Given the description of an element on the screen output the (x, y) to click on. 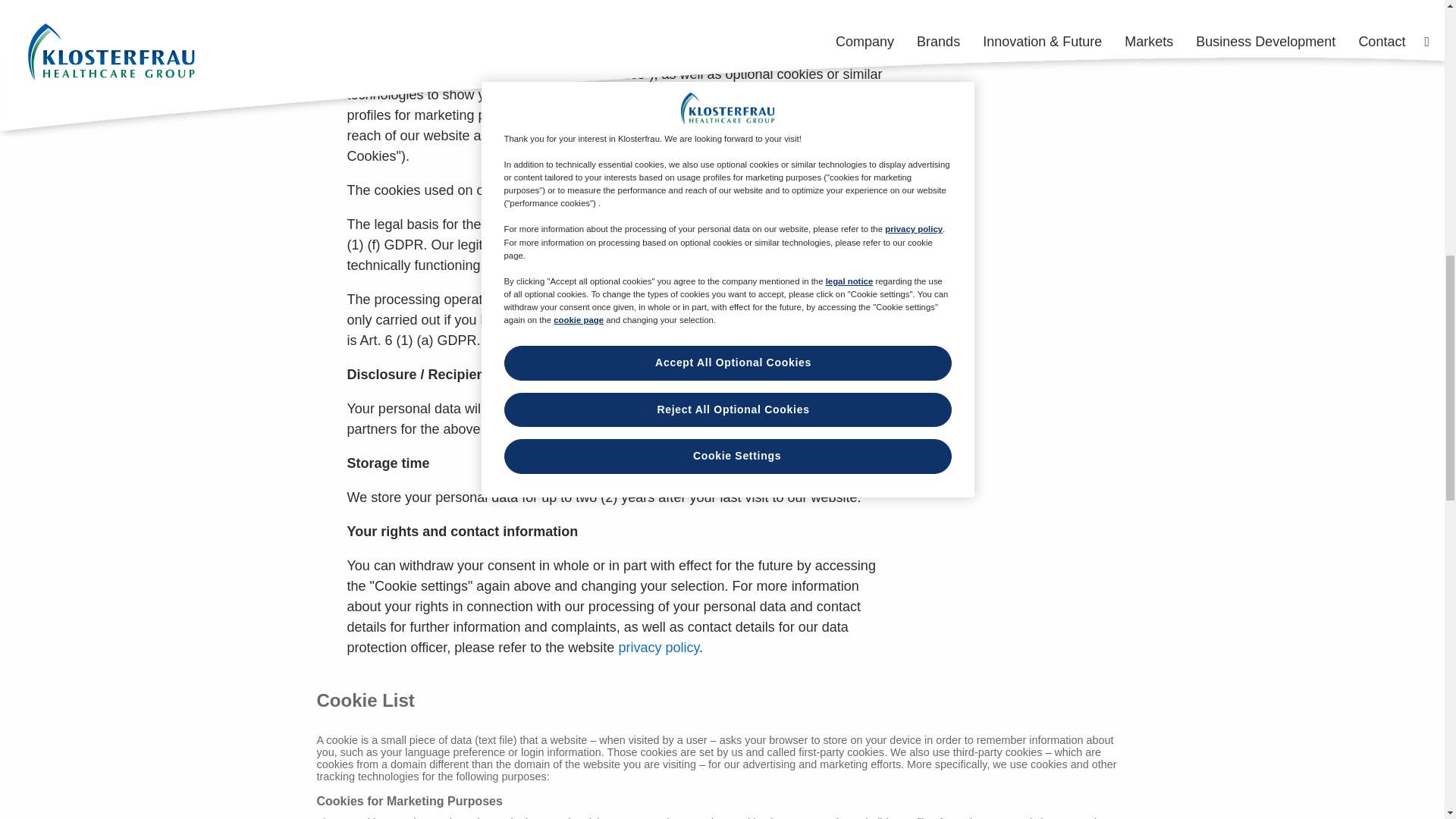
privacy policy (657, 647)
